Given the description of an element on the screen output the (x, y) to click on. 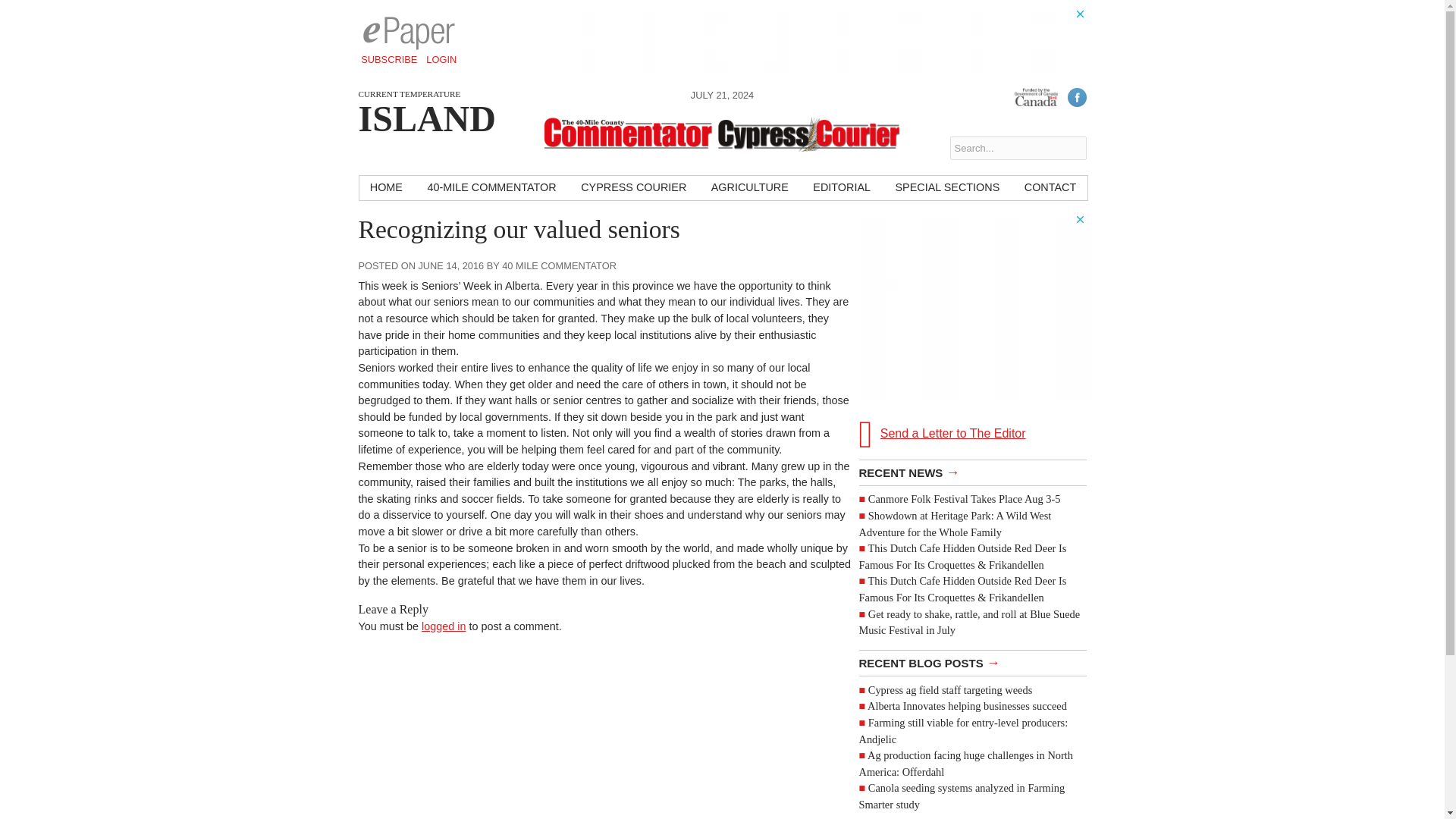
3rd party ad content (810, 41)
EDITORIAL (841, 187)
Alberta Innovates helping businesses succeed (967, 705)
SUBSCRIBE (389, 58)
Send a Letter to The Editor (972, 434)
Canola seeding systems analyzed in Farming Smarter study (961, 796)
SPECIAL SECTIONS (946, 187)
logged in (443, 625)
HOME (386, 187)
Farming still viable for entry-level producers: Andjelic (963, 730)
Canmore Folk Festival Takes Place Aug 3-5 (964, 499)
40-MILE COMMENTATOR (491, 187)
